Given the description of an element on the screen output the (x, y) to click on. 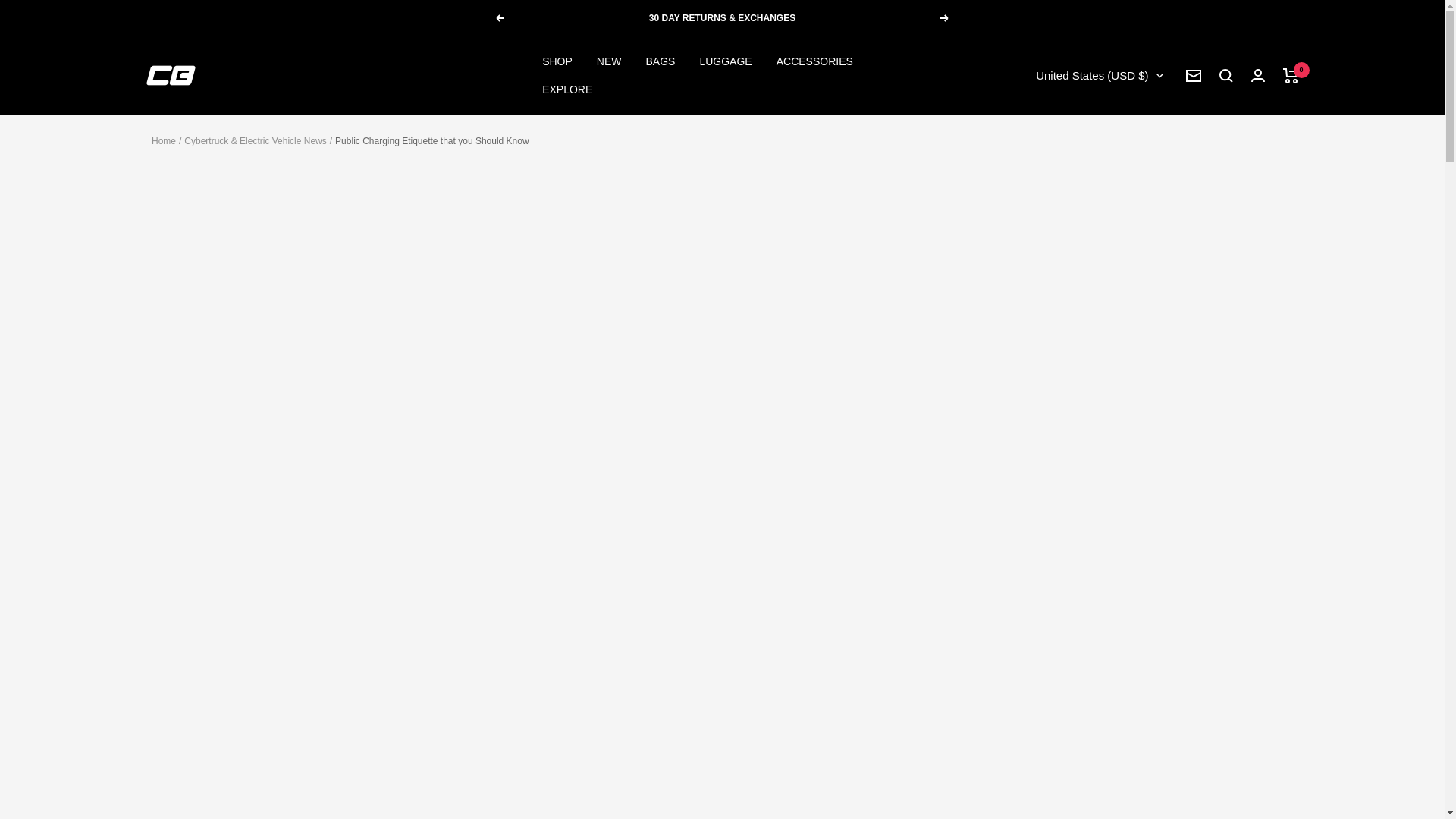
BY (1021, 577)
AD (1021, 221)
AL (1021, 174)
Cyberbackpack (170, 75)
EXPLORE (566, 89)
AM (1021, 340)
Next (944, 18)
SHOP (556, 61)
AW (1021, 363)
BT (1021, 696)
